Given the description of an element on the screen output the (x, y) to click on. 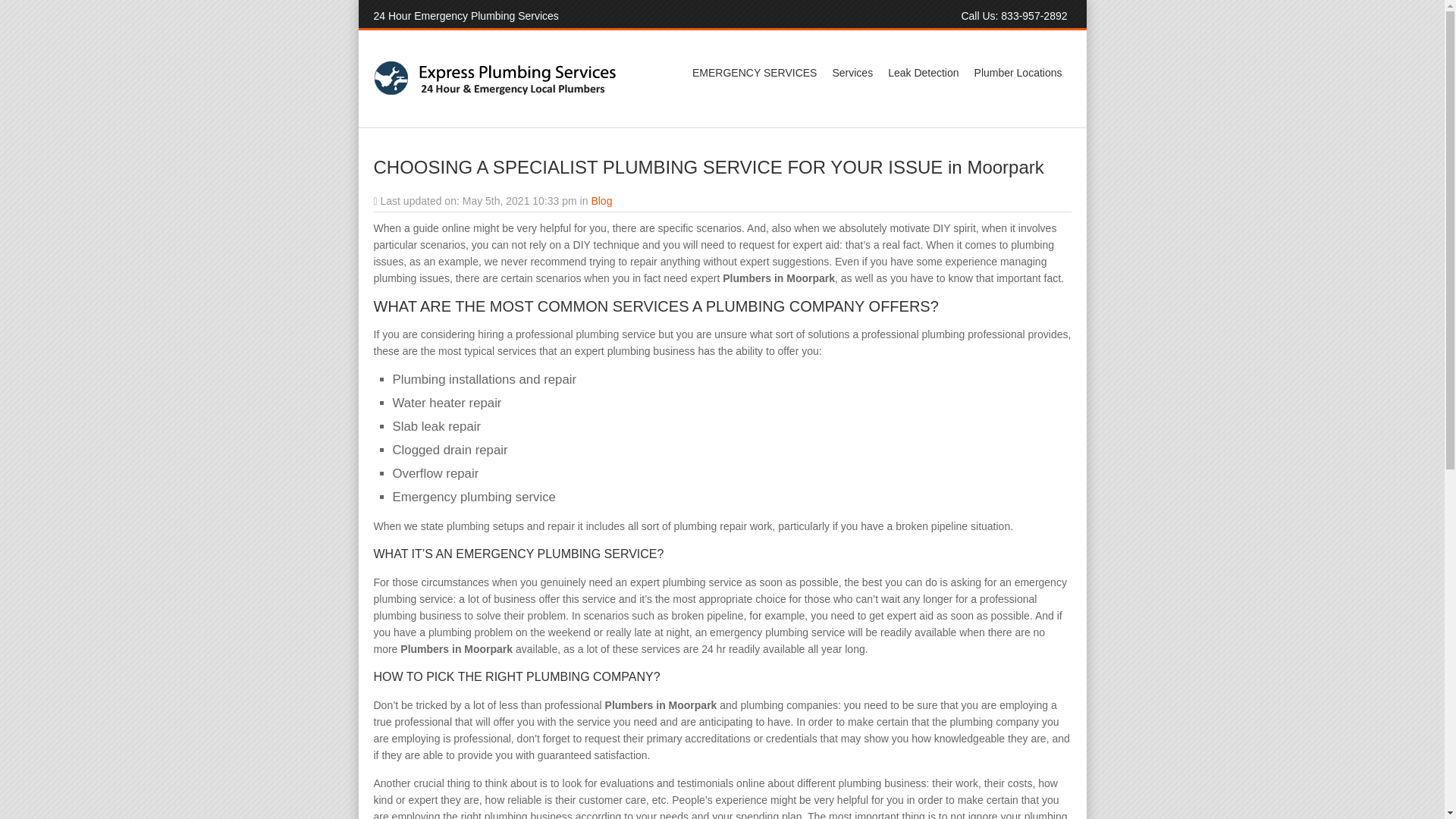
EMERGENCY SERVICES (753, 72)
Services (852, 72)
Leak Detection (922, 72)
833-957-2892 (1034, 15)
